Given the description of an element on the screen output the (x, y) to click on. 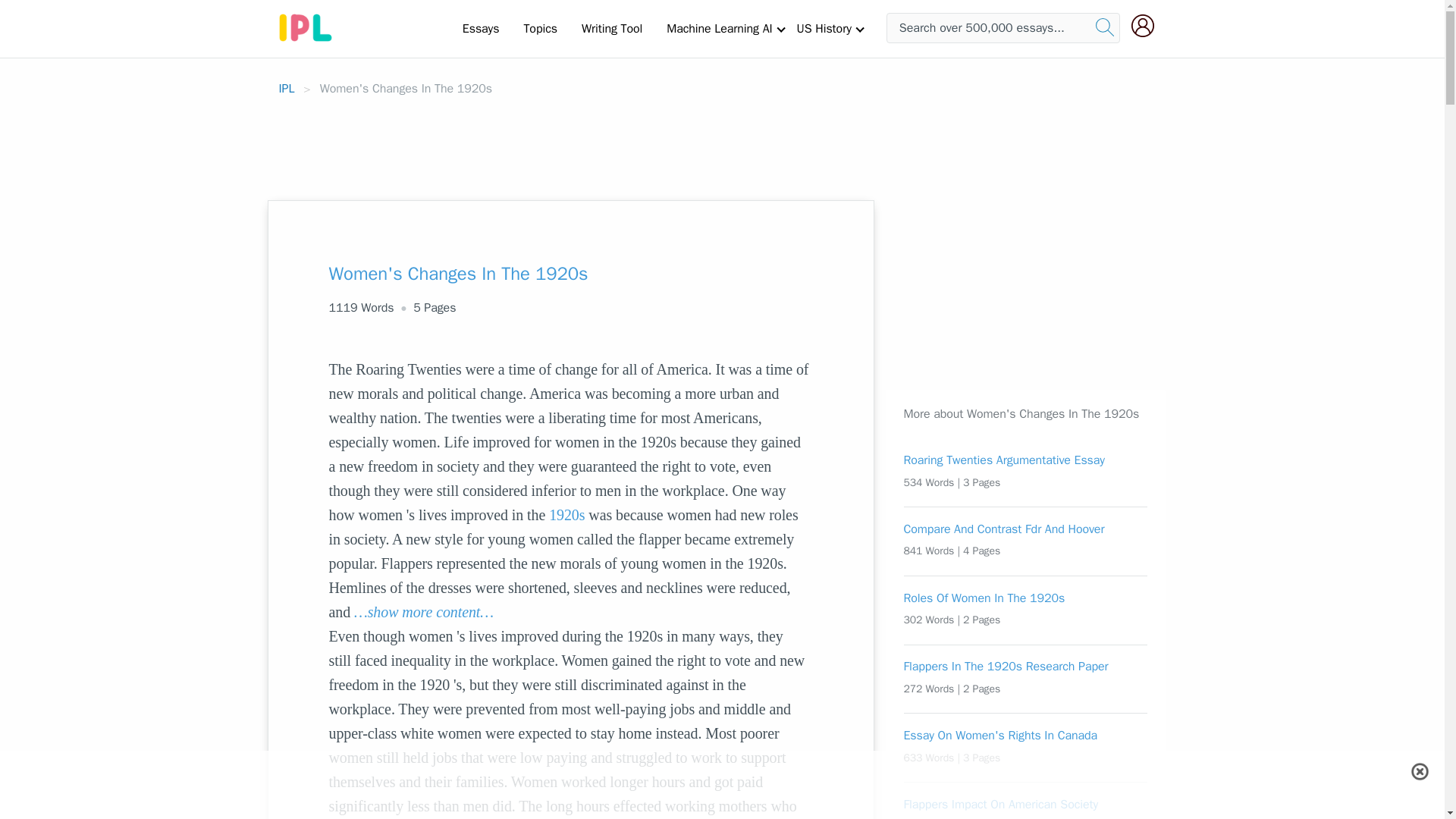
Topics (540, 28)
Essays (480, 28)
US History (823, 28)
3rd party ad content (722, 785)
Machine Learning AI (718, 28)
3rd party ad content (999, 294)
3rd party ad content (721, 141)
Writing Tool (611, 28)
1920s (566, 514)
IPL (287, 88)
